Given the description of an element on the screen output the (x, y) to click on. 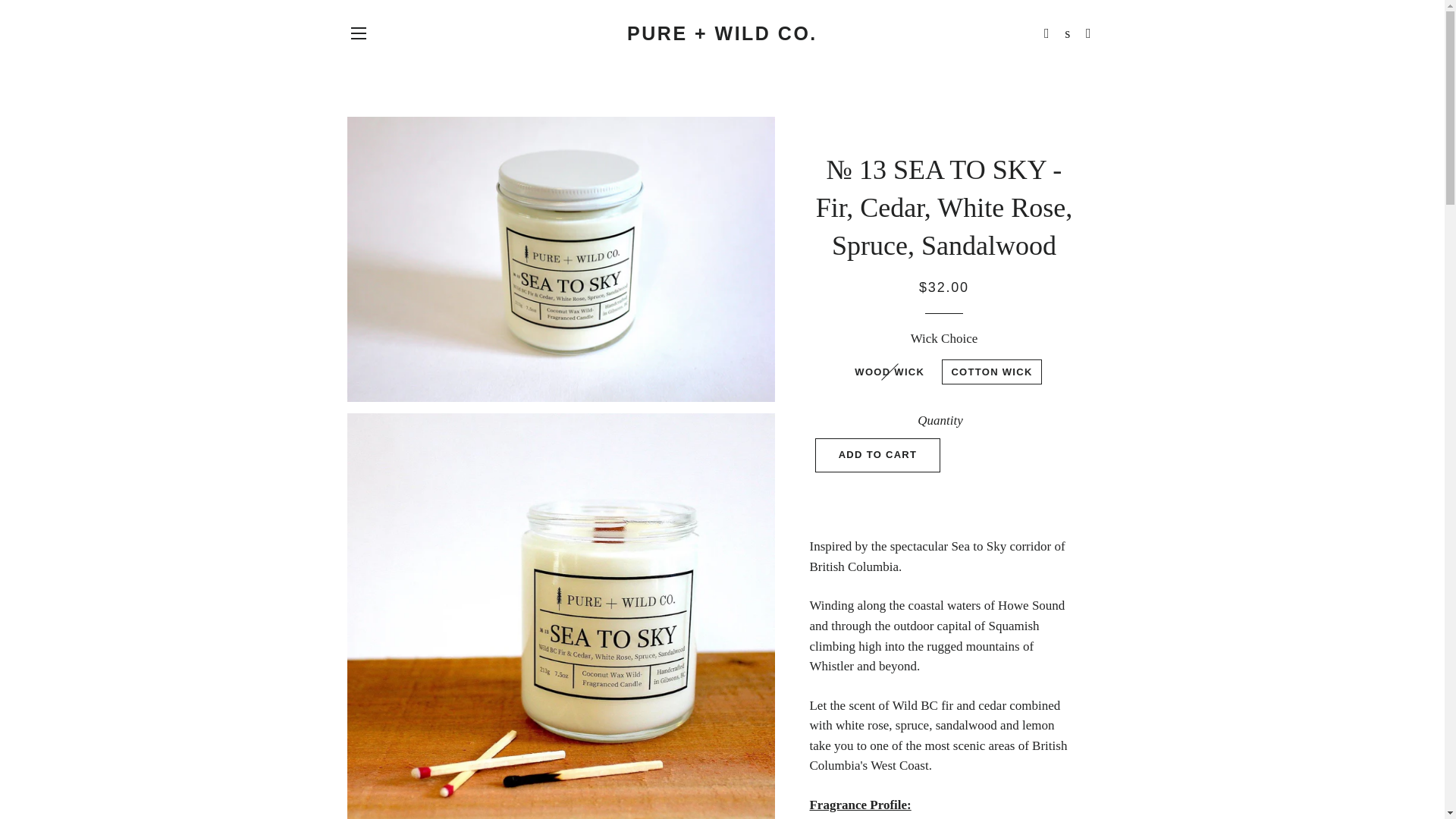
SITE NAVIGATION (358, 33)
ADD TO CART (877, 454)
